Given the description of an element on the screen output the (x, y) to click on. 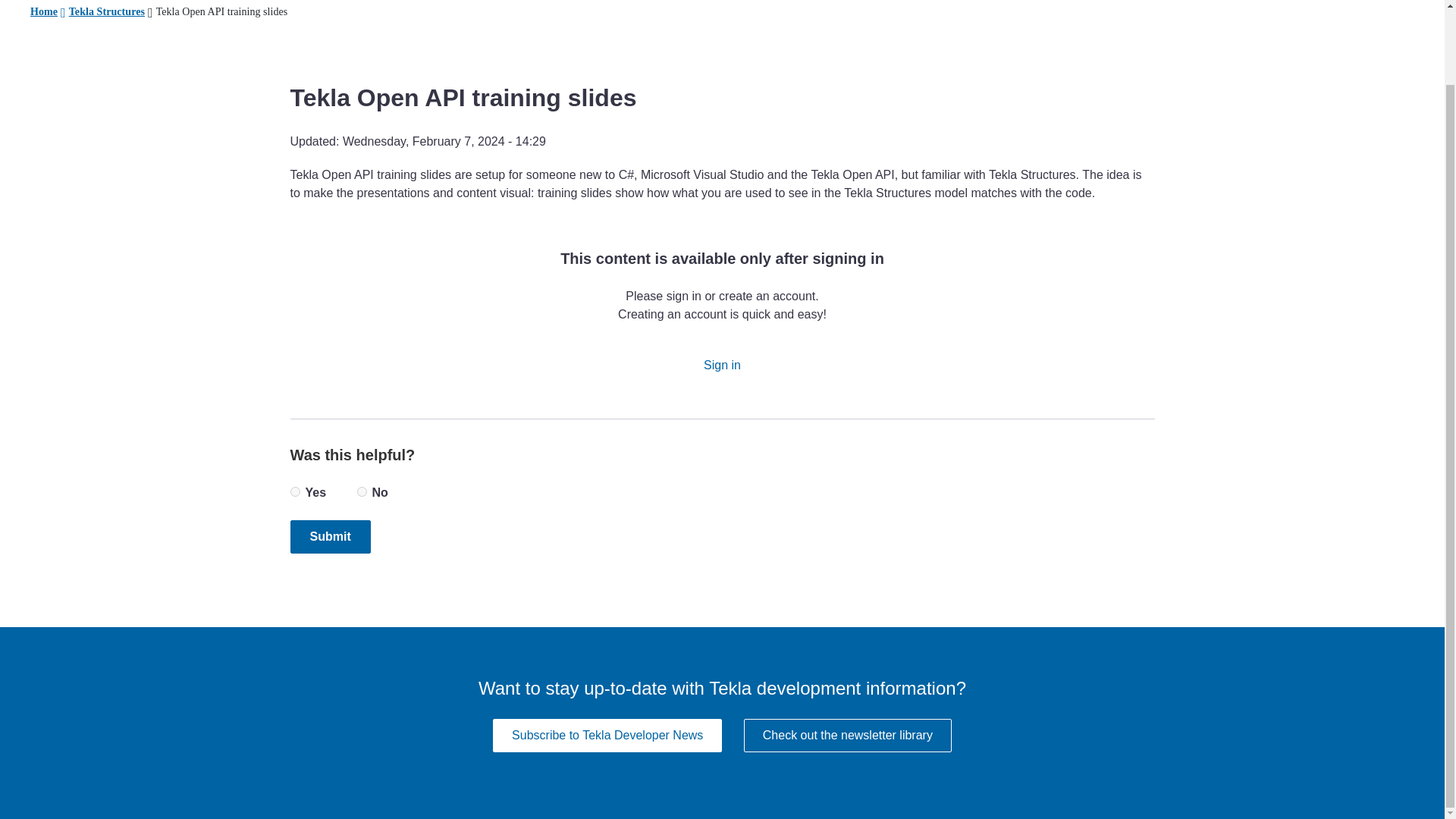
Home (44, 11)
yes (294, 491)
no (361, 491)
